Given the description of an element on the screen output the (x, y) to click on. 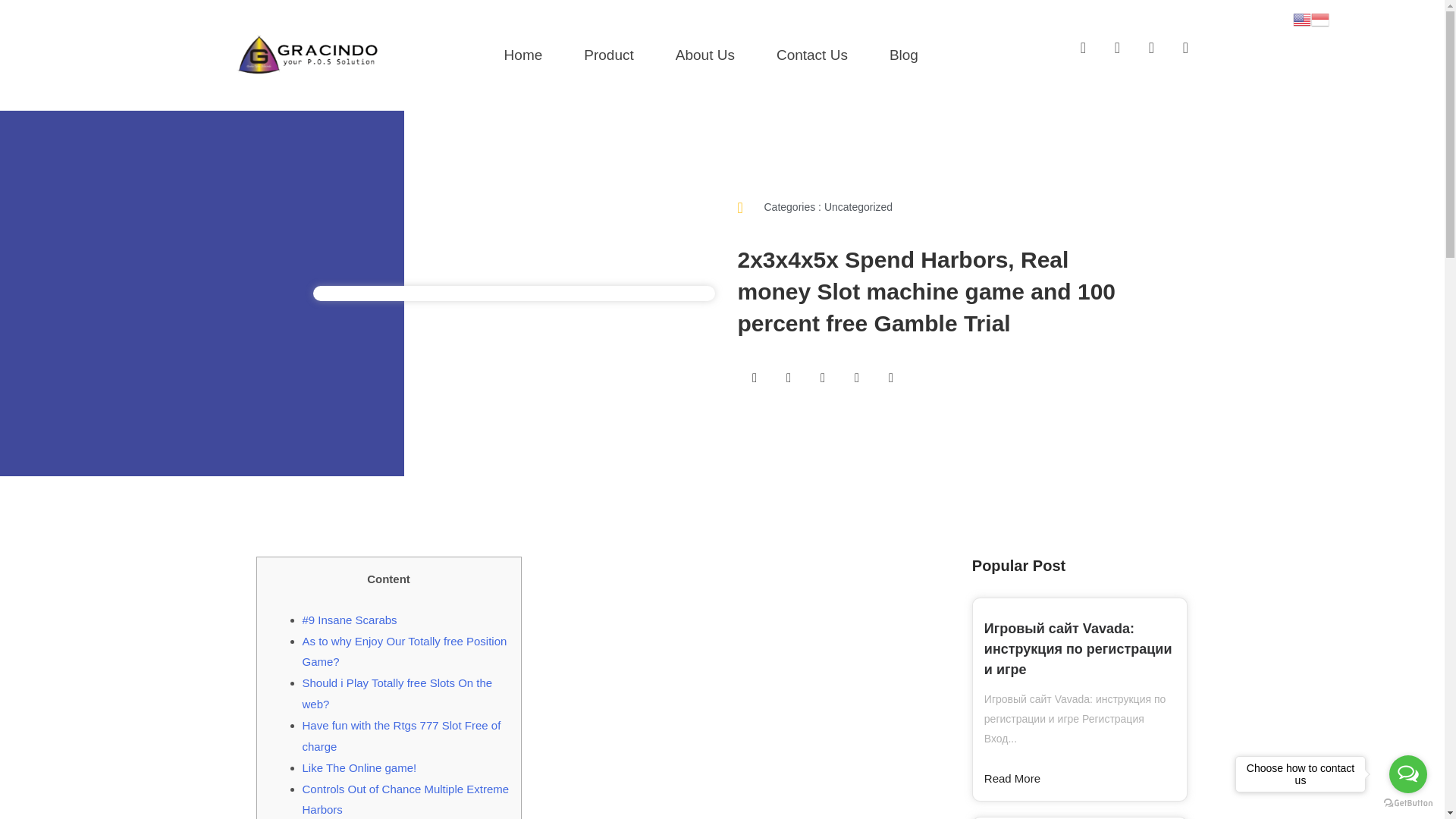
English (1301, 18)
Indonesian (1320, 18)
